Given the description of an element on the screen output the (x, y) to click on. 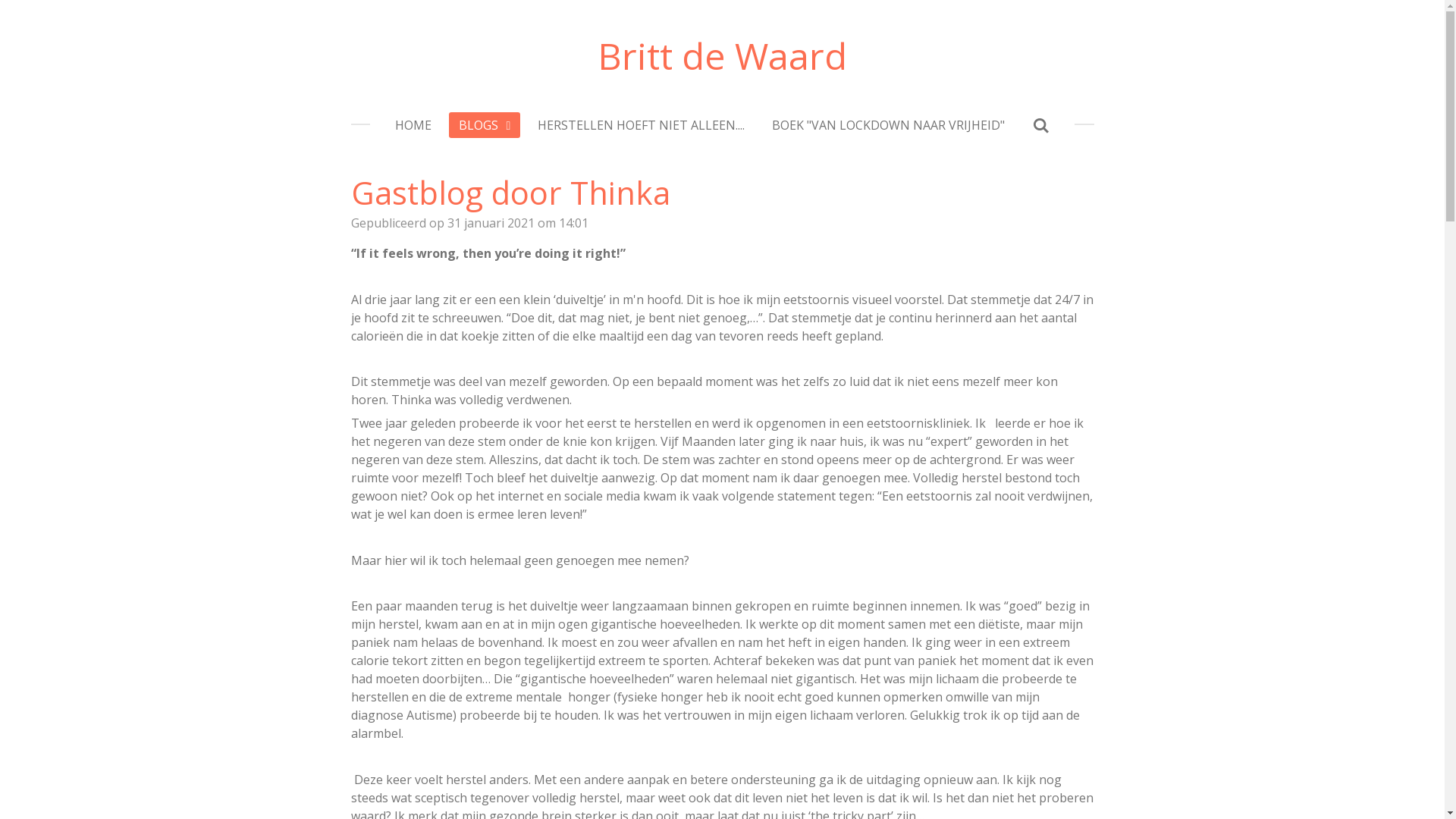
HERSTELLEN HOEFT NIET ALLEEN.... Element type: text (640, 125)
Britt de Waard Element type: text (722, 55)
BOEK "VAN LOCKDOWN NAAR VRIJHEID" Element type: text (888, 125)
BLOGS Element type: text (484, 125)
Zoeken Element type: hover (1040, 125)
HOME Element type: text (413, 125)
